Given the description of an element on the screen output the (x, y) to click on. 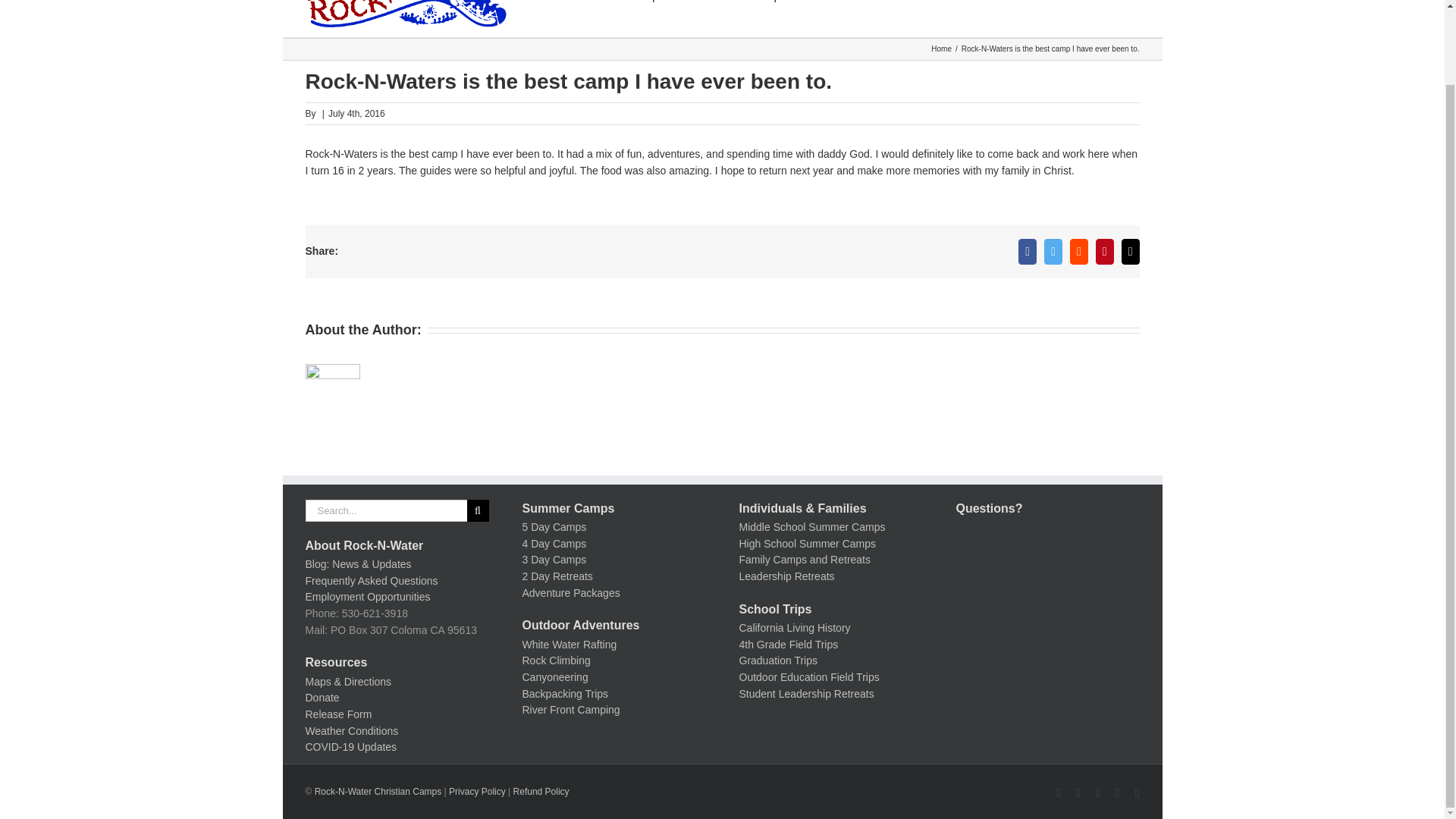
Book Now (927, 18)
Summer Camps (742, 18)
About Rock-N-Water (363, 545)
Trip Options (927, 18)
Christian Field Trips (1011, 18)
Home (941, 49)
Schools (1011, 18)
Frequently Asked Questions (371, 580)
Youth Groups (628, 18)
Christian Camps for Groups (628, 18)
